Given the description of an element on the screen output the (x, y) to click on. 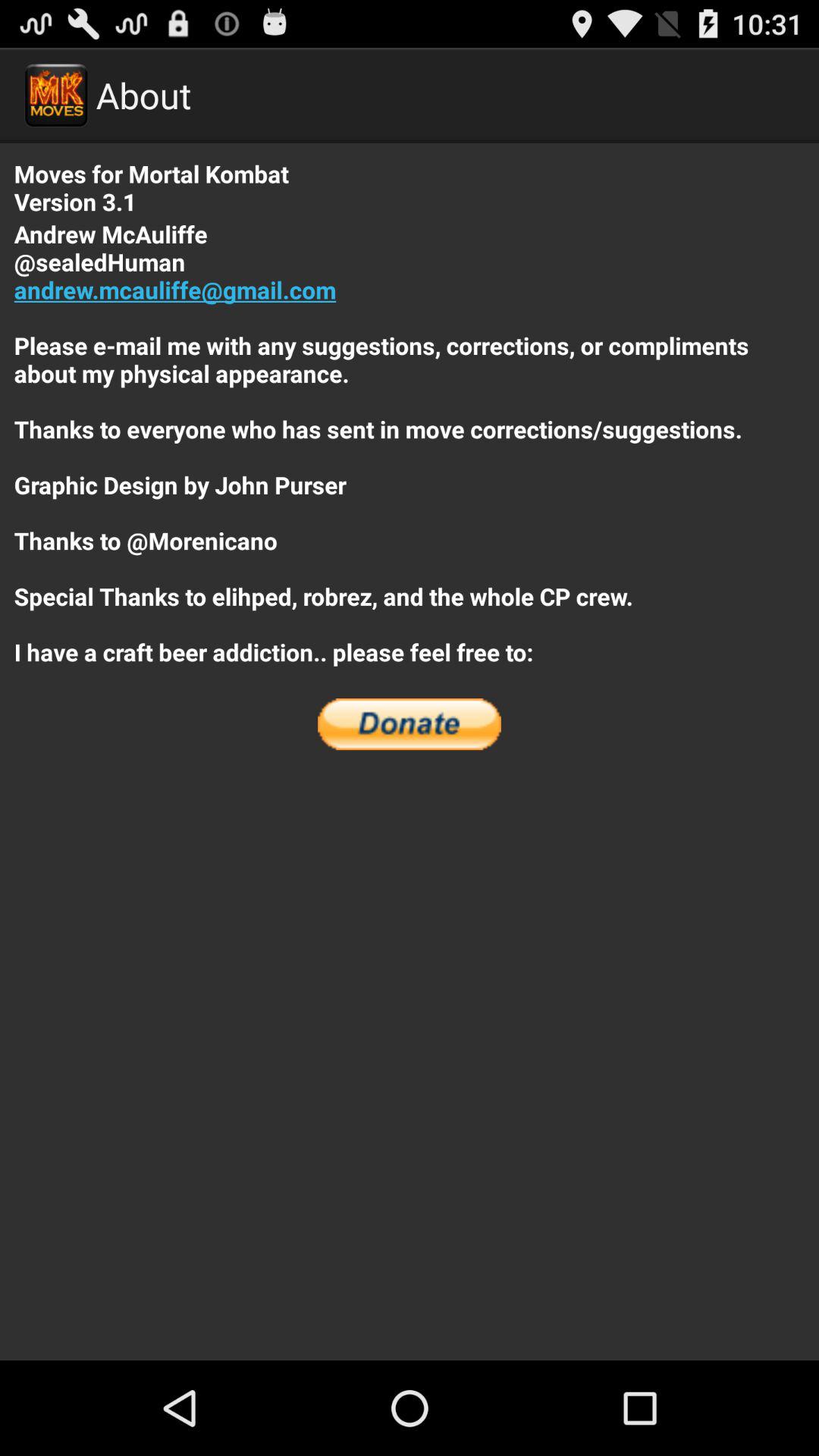
flip to the andrew mcauliffe sealedhuman icon (409, 442)
